Given the description of an element on the screen output the (x, y) to click on. 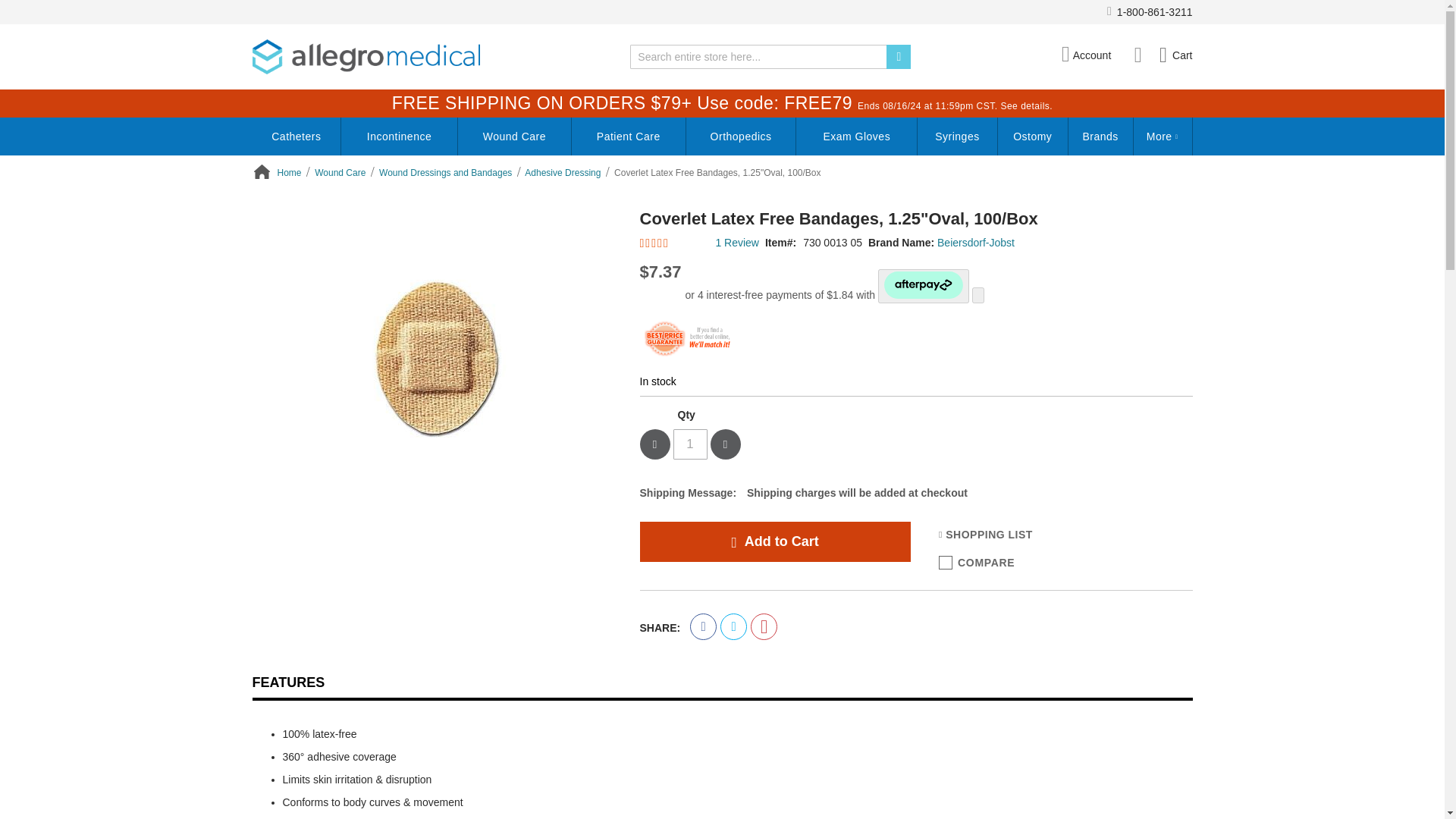
Catheters (295, 136)
Search (898, 56)
1 (689, 444)
Catheters (295, 136)
Phone Number (1149, 11)
Minicart item (1175, 55)
Allegro Medical Supplies Store (365, 56)
Search (898, 56)
Cart (1175, 55)
1-800-861-3211 (1149, 11)
